Given the description of an element on the screen output the (x, y) to click on. 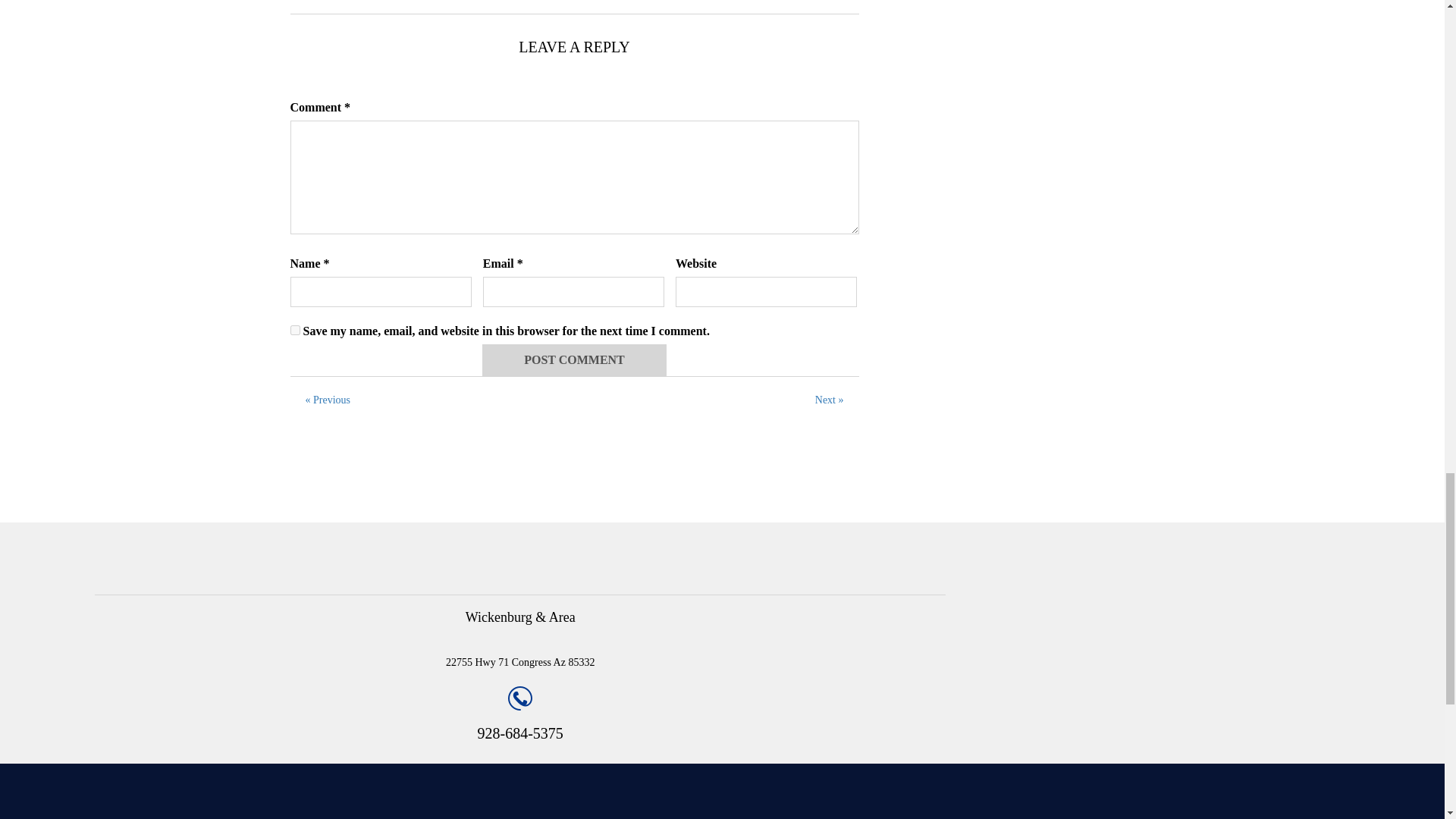
yes (294, 329)
Post Comment (573, 359)
Post Comment (573, 359)
